Given the description of an element on the screen output the (x, y) to click on. 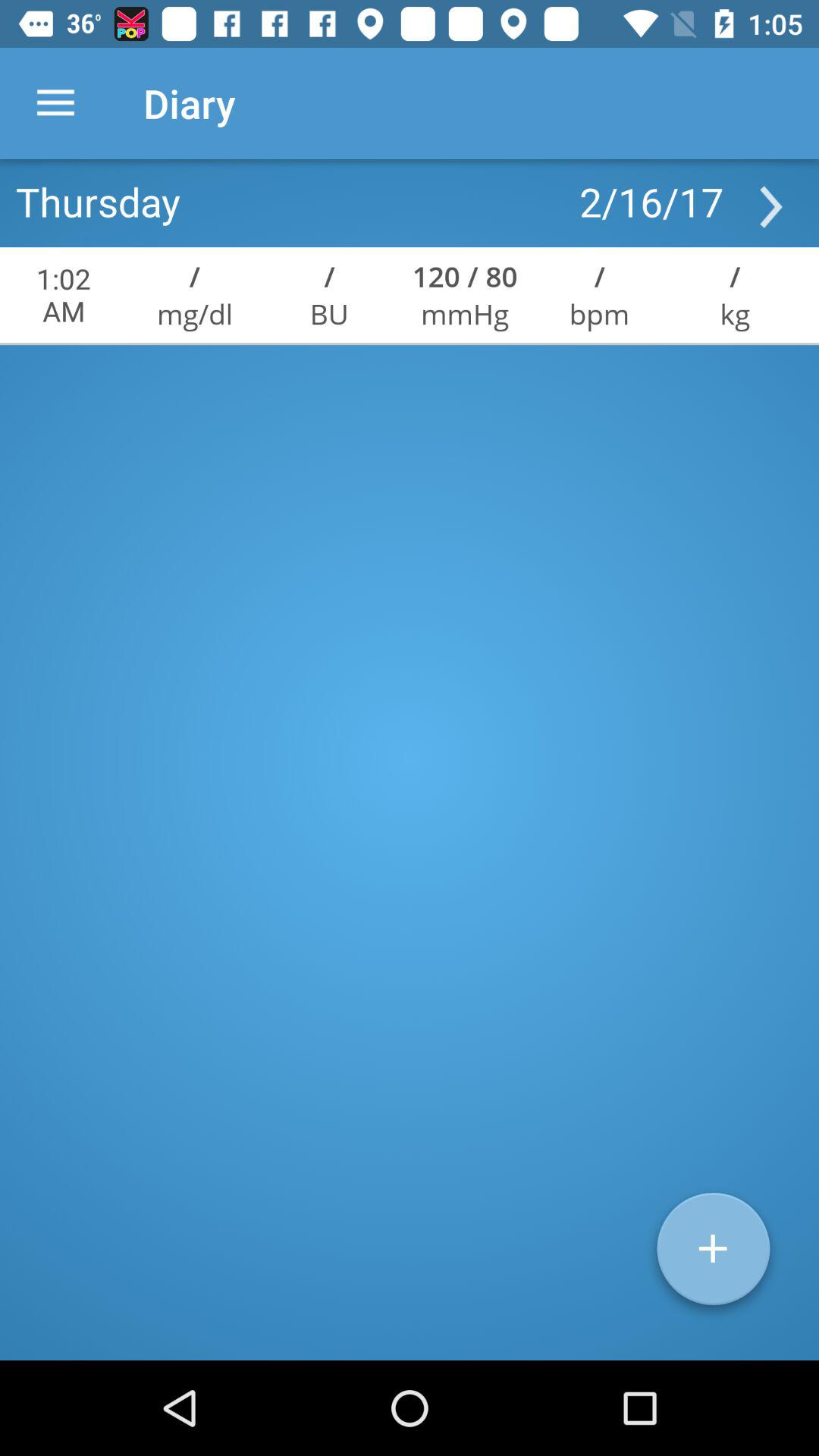
turn off icon below the / item (599, 313)
